Given the description of an element on the screen output the (x, y) to click on. 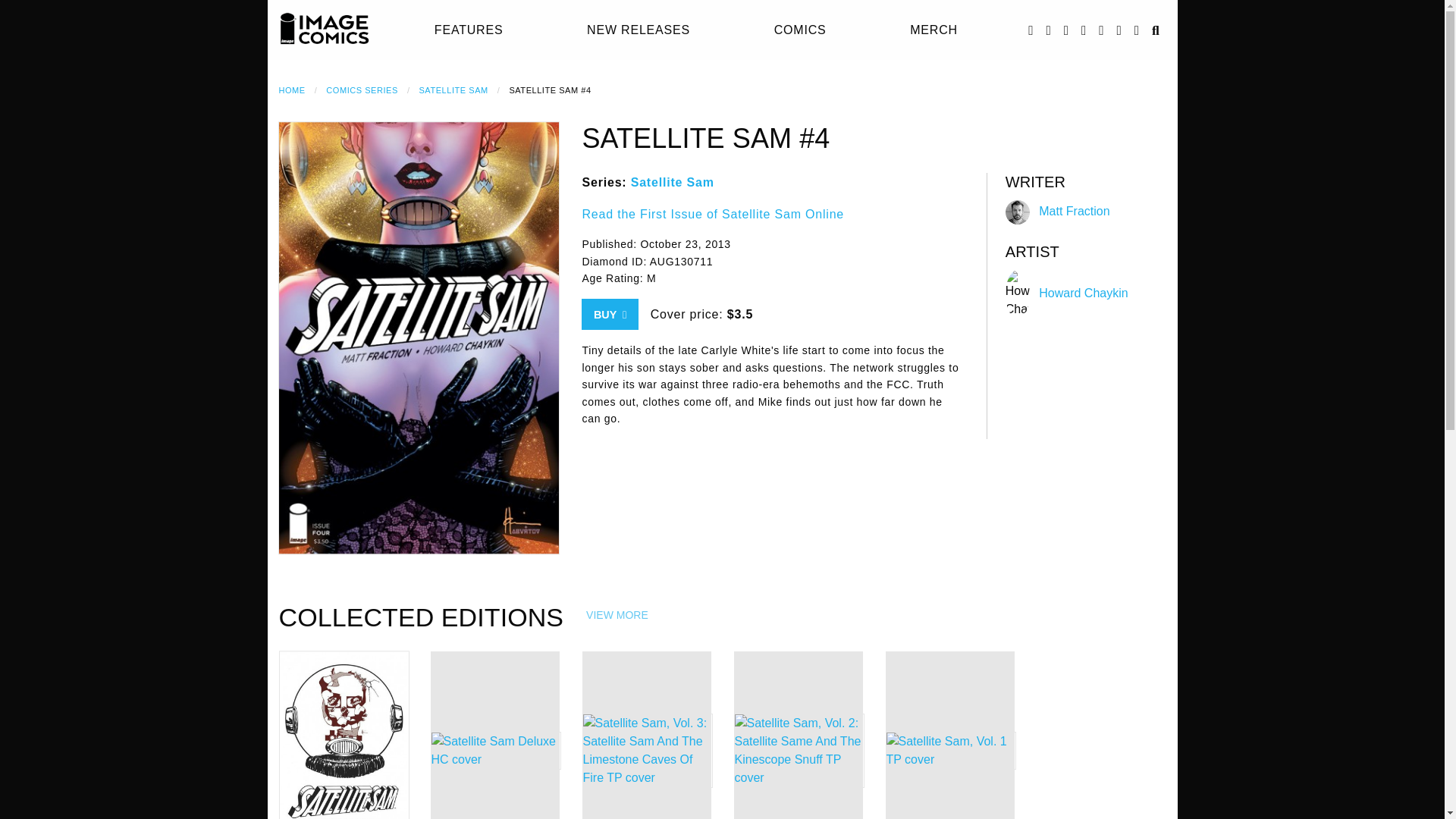
VIEW MORE (616, 614)
Read the First Issue of Satellite Sam Online (712, 214)
Howard Chaykin (1082, 292)
Matt Fraction (1074, 210)
NEW RELEASES (638, 30)
COMICS (800, 30)
COMICS SERIES (361, 90)
HOME (292, 90)
FEATURES (468, 30)
MERCH (934, 30)
